Given the description of an element on the screen output the (x, y) to click on. 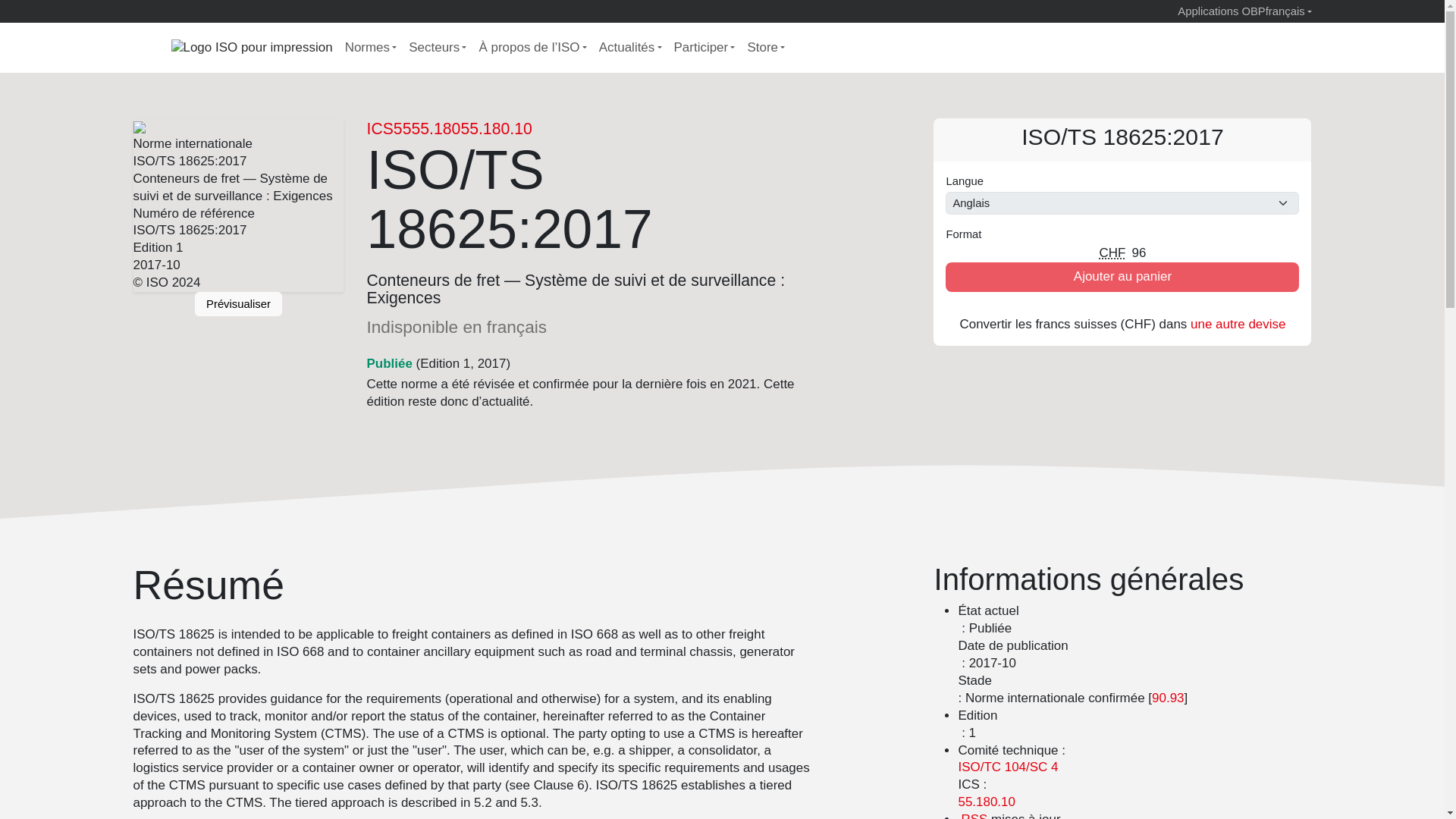
Identification et communication (1008, 766)
ICS (379, 128)
Portail des applications de l'ISO (1206, 11)
90.93 (1167, 698)
Normes (371, 48)
Store (765, 48)
Ajouter au panier (1121, 276)
Plateforme de consultation en ligne (1252, 11)
Francs suisses (1112, 252)
55 (402, 128)
Participer (704, 48)
Panier d'achat (1050, 47)
Cycle de vie (389, 363)
55.180.10 (495, 128)
Organisation internationale de normalisation (152, 47)
